Given the description of an element on the screen output the (x, y) to click on. 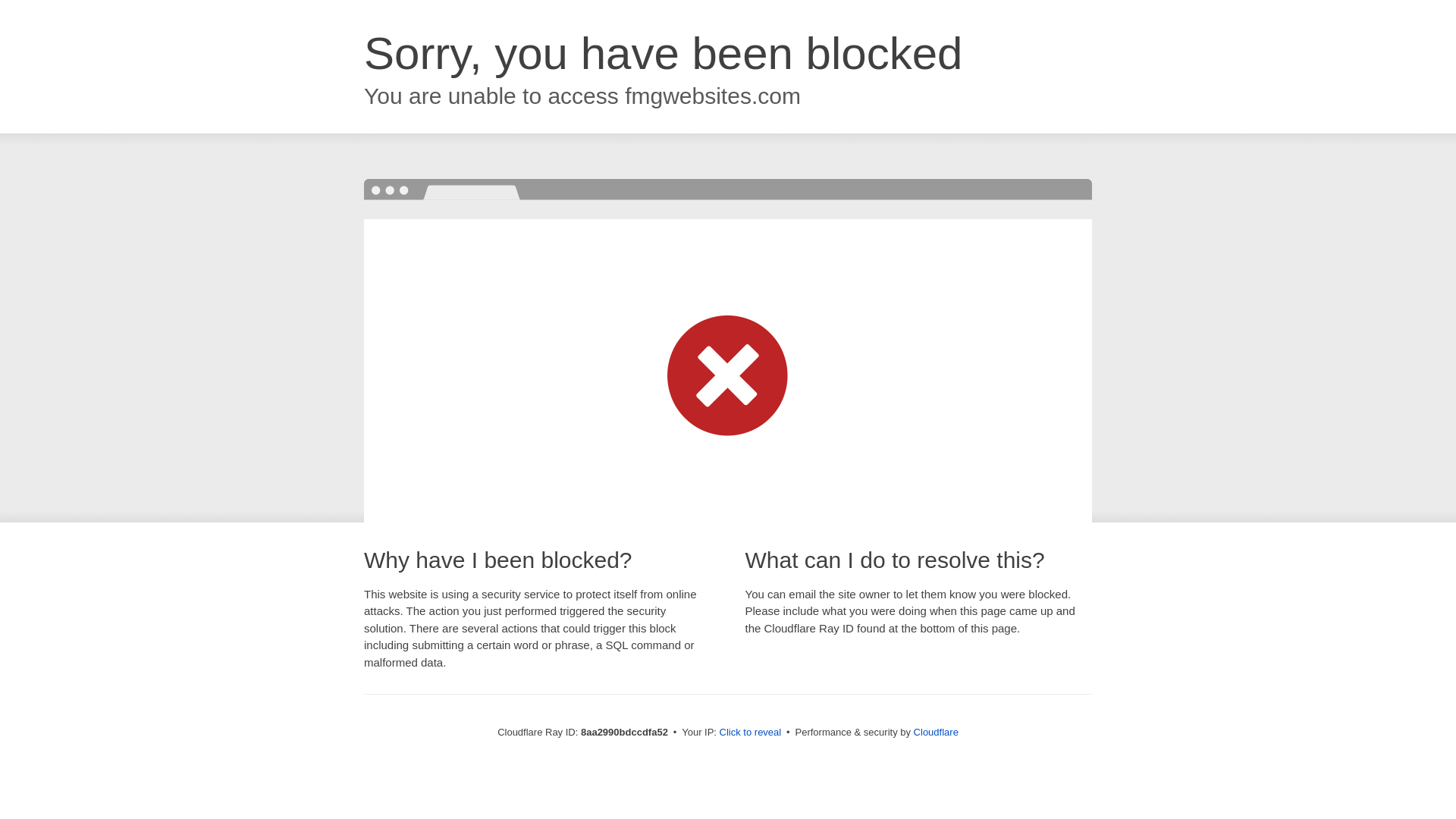
Cloudflare (936, 731)
Click to reveal (750, 732)
